Given the description of an element on the screen output the (x, y) to click on. 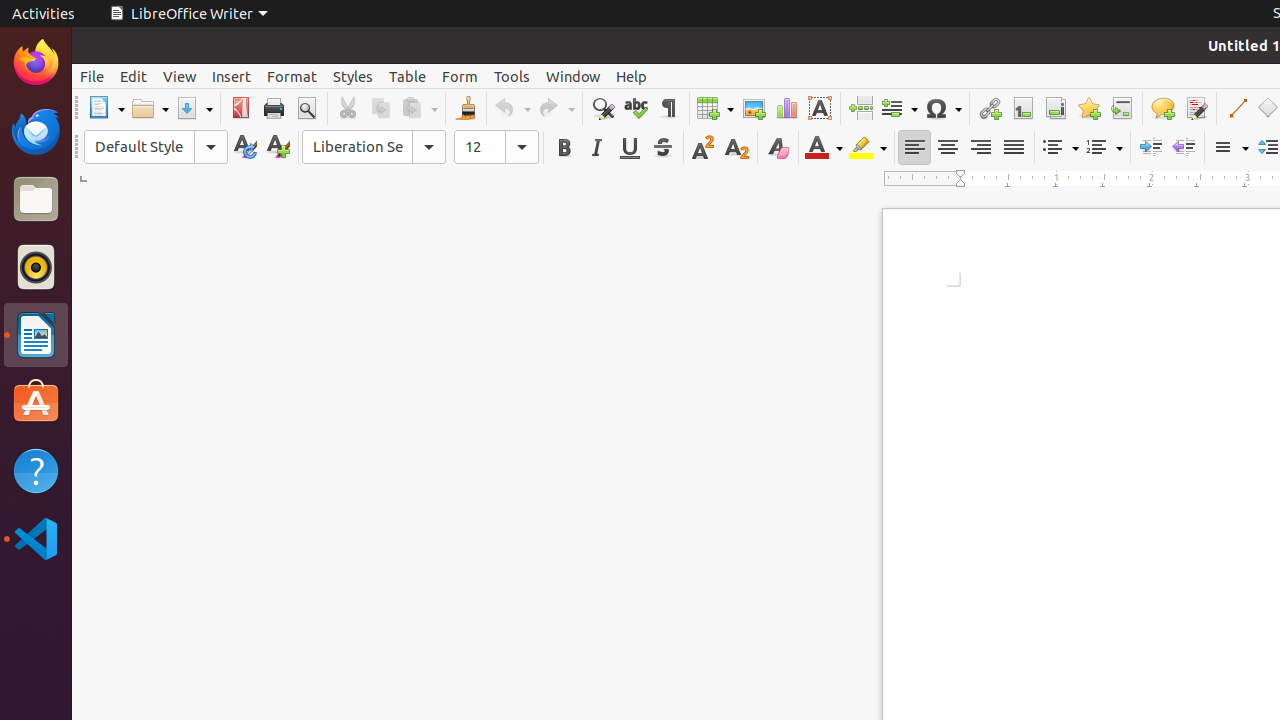
Update Element type: push-button (244, 147)
Bullets Element type: push-button (1060, 147)
Font Size Element type: combo-box (496, 147)
Styles Element type: menu (353, 76)
Cross-reference Element type: push-button (1121, 108)
